Given the description of an element on the screen output the (x, y) to click on. 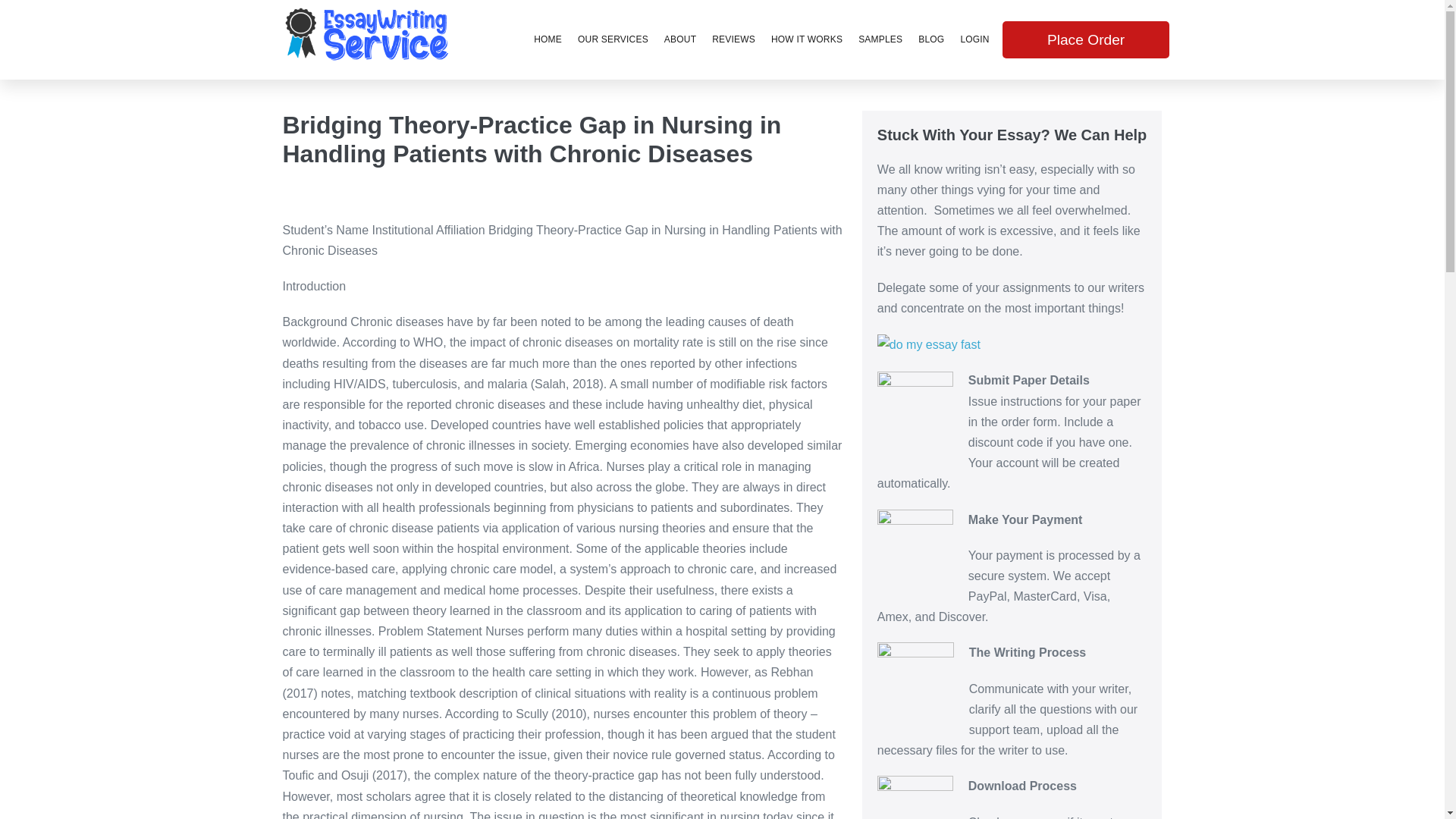
Place Order (1086, 18)
HOW IT WORKS (807, 38)
OUR SERVICES (612, 38)
